Given the description of an element on the screen output the (x, y) to click on. 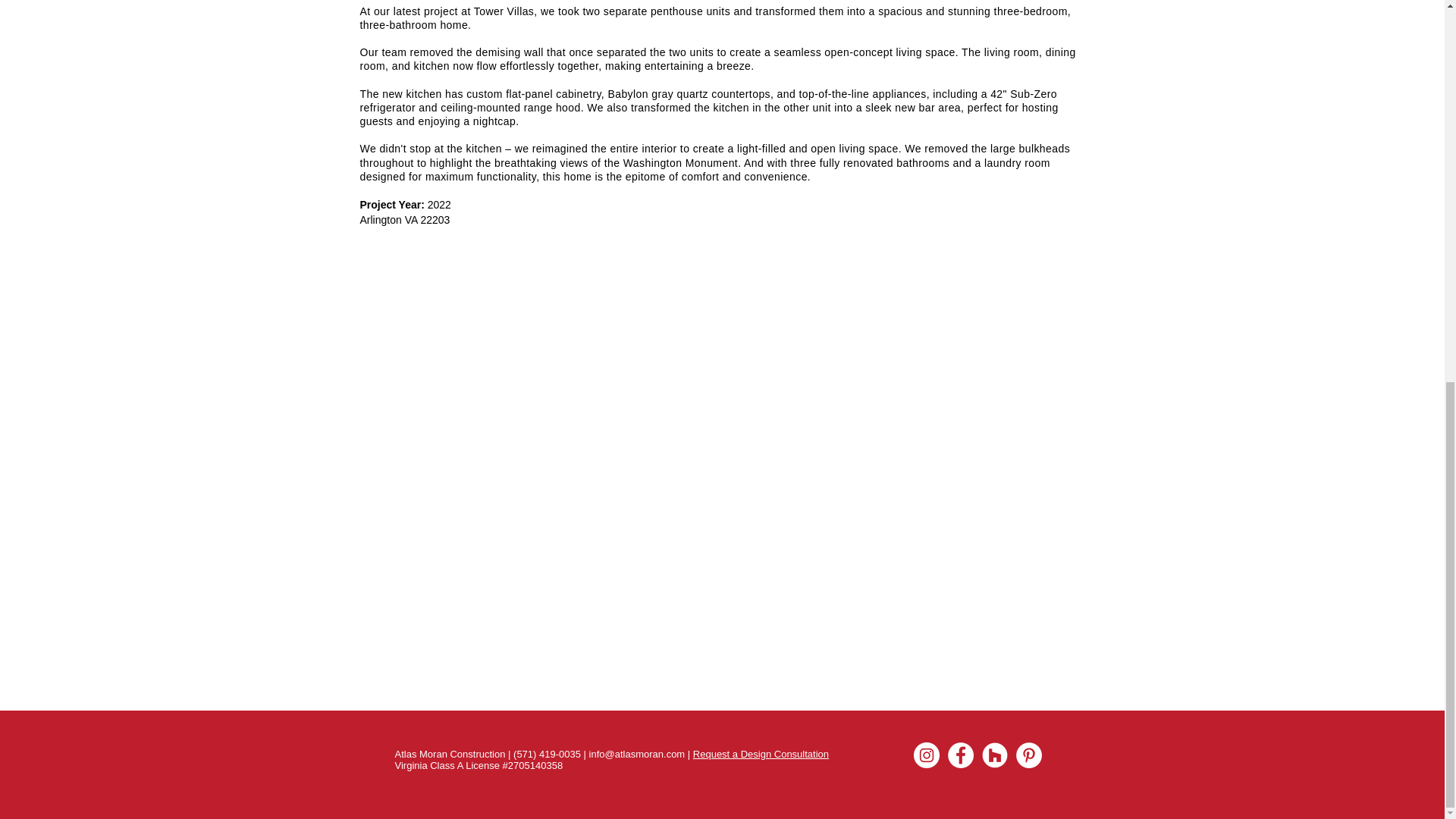
Request a Design Consultation (760, 754)
